Given the description of an element on the screen output the (x, y) to click on. 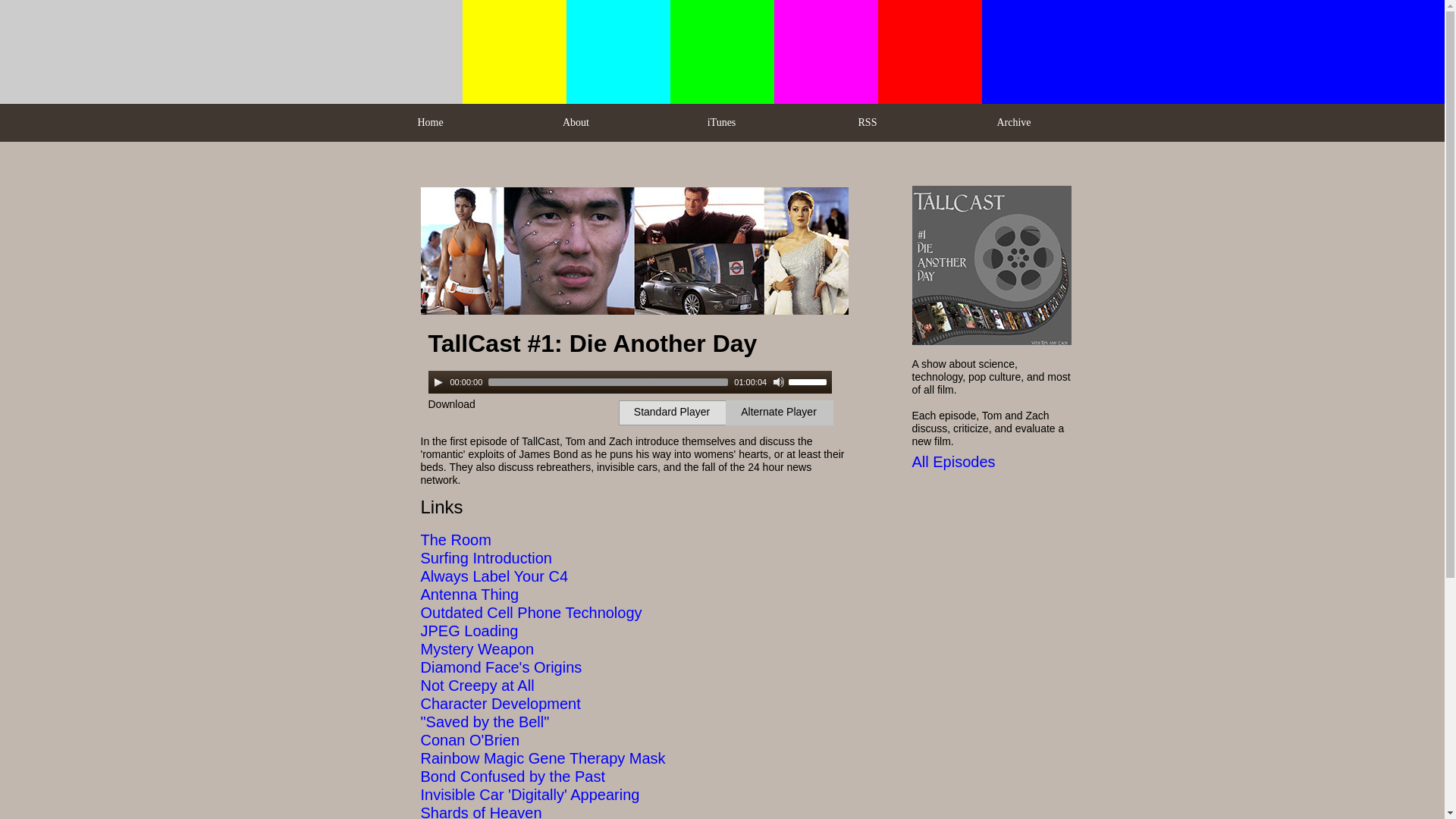
Download (451, 404)
"Saved by the Bell" (484, 721)
RSS (866, 122)
Home (430, 122)
iTunes (721, 122)
Diamond Face's Origins (500, 667)
JPEG Loading (469, 630)
Character (453, 703)
Mystery Weapon (477, 648)
Mute Toggle (778, 381)
All Episodes (952, 460)
Introduction (511, 557)
Shards of Heaven (480, 811)
Play (438, 381)
Conan O'Brien (469, 740)
